Given the description of an element on the screen output the (x, y) to click on. 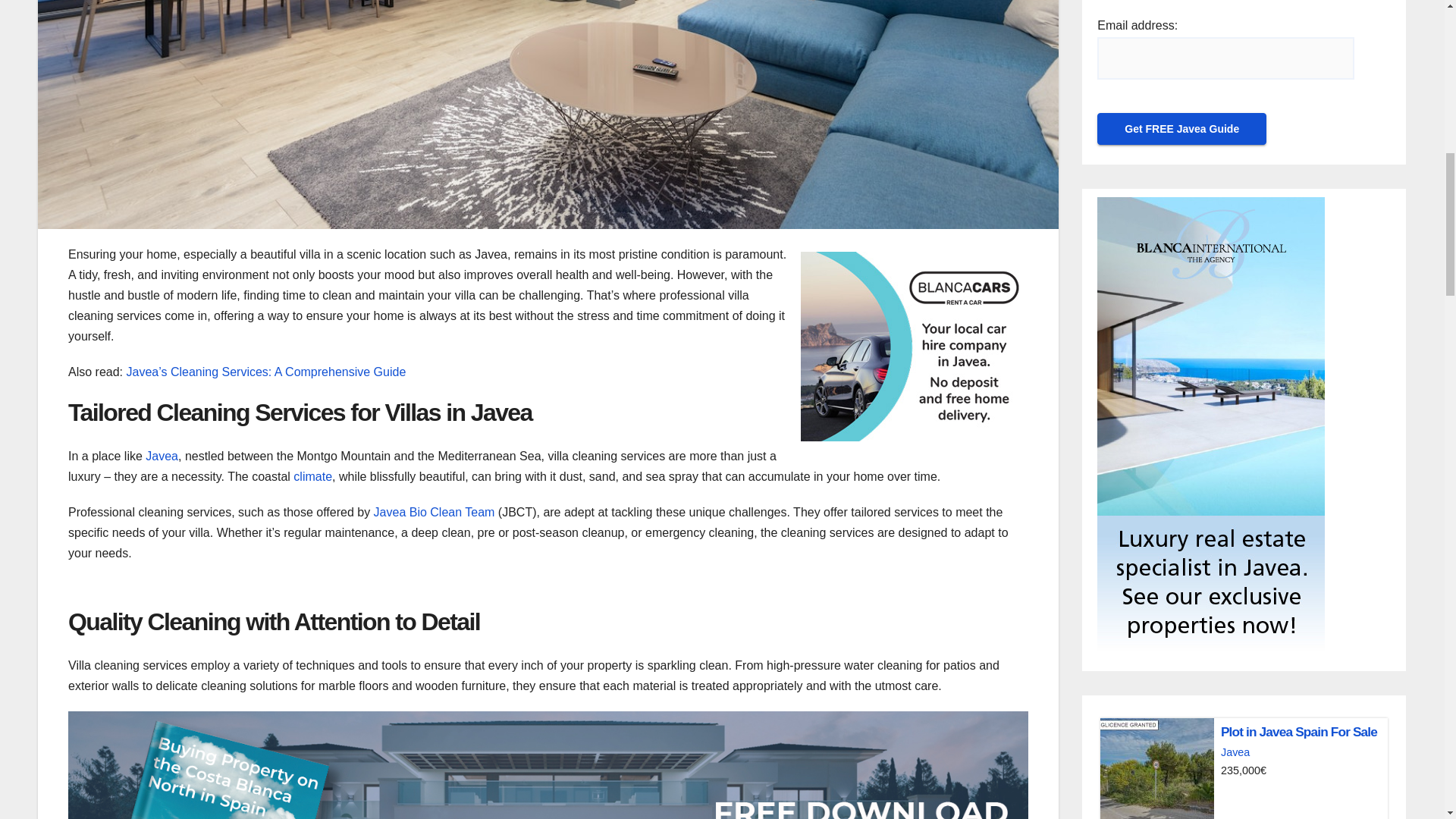
Get FREE Javea Guide (1181, 128)
Javea Bio Clean Team: Comprehensive Cleaning Services (434, 512)
